Given the description of an element on the screen output the (x, y) to click on. 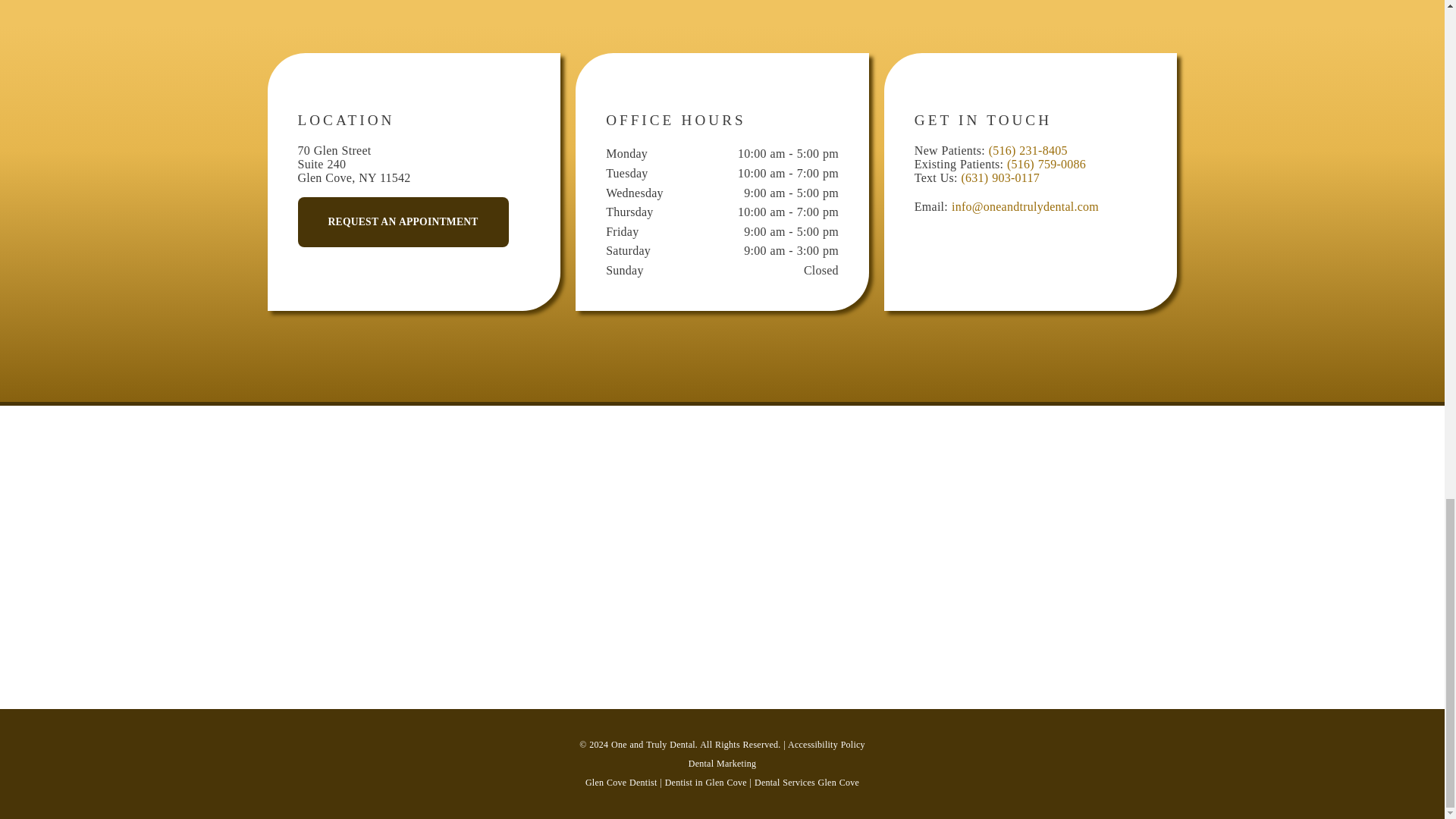
REQUEST AN APPOINTMENT (402, 222)
